Given the description of an element on the screen output the (x, y) to click on. 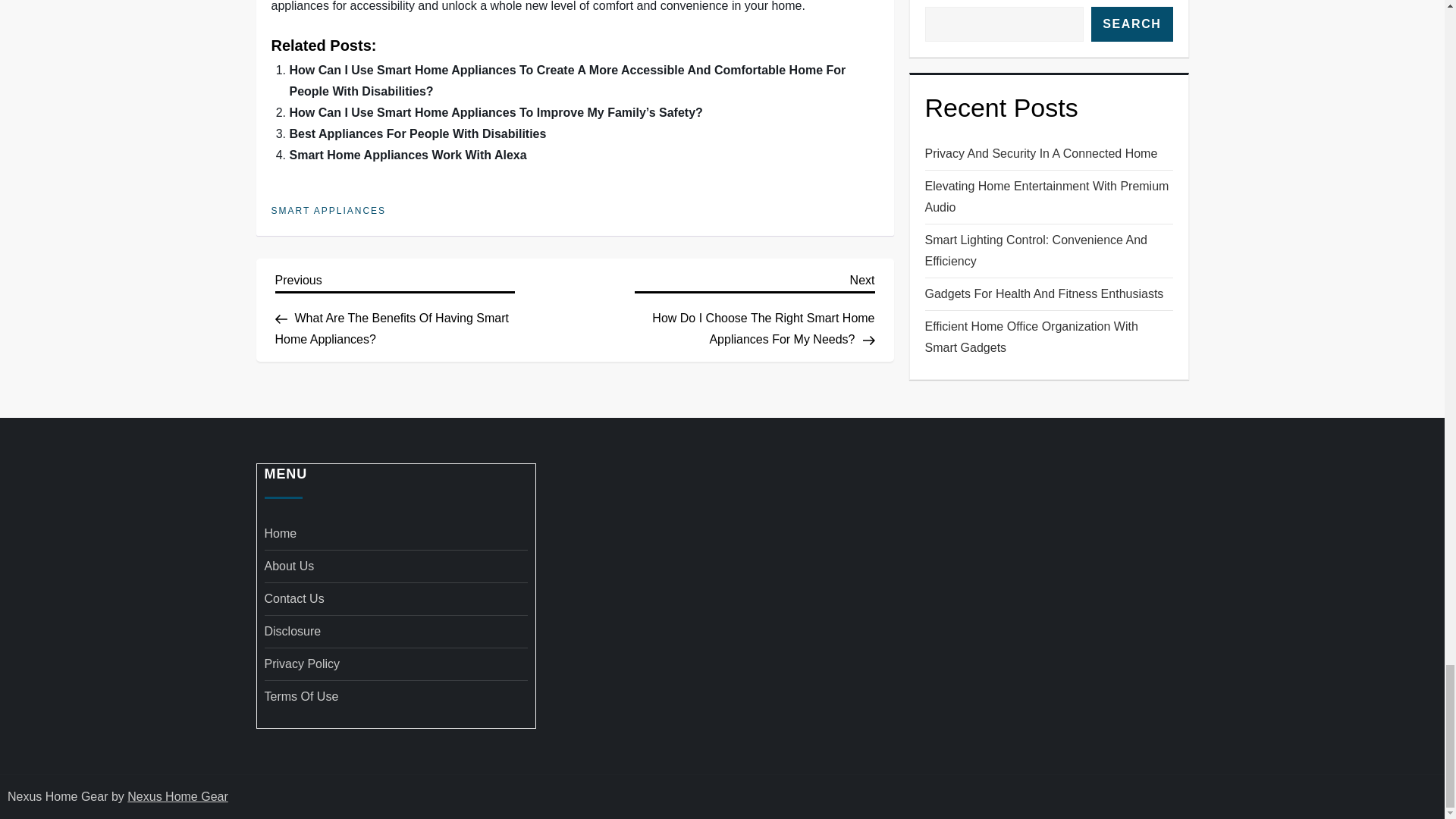
SMART APPLIANCES (328, 211)
Smart Home Appliances Work With Alexa (408, 154)
Best Appliances For People With Disabilities (418, 133)
Smart Home Appliances Work With Alexa (408, 154)
Best Appliances For People With Disabilities (418, 133)
